Given the description of an element on the screen output the (x, y) to click on. 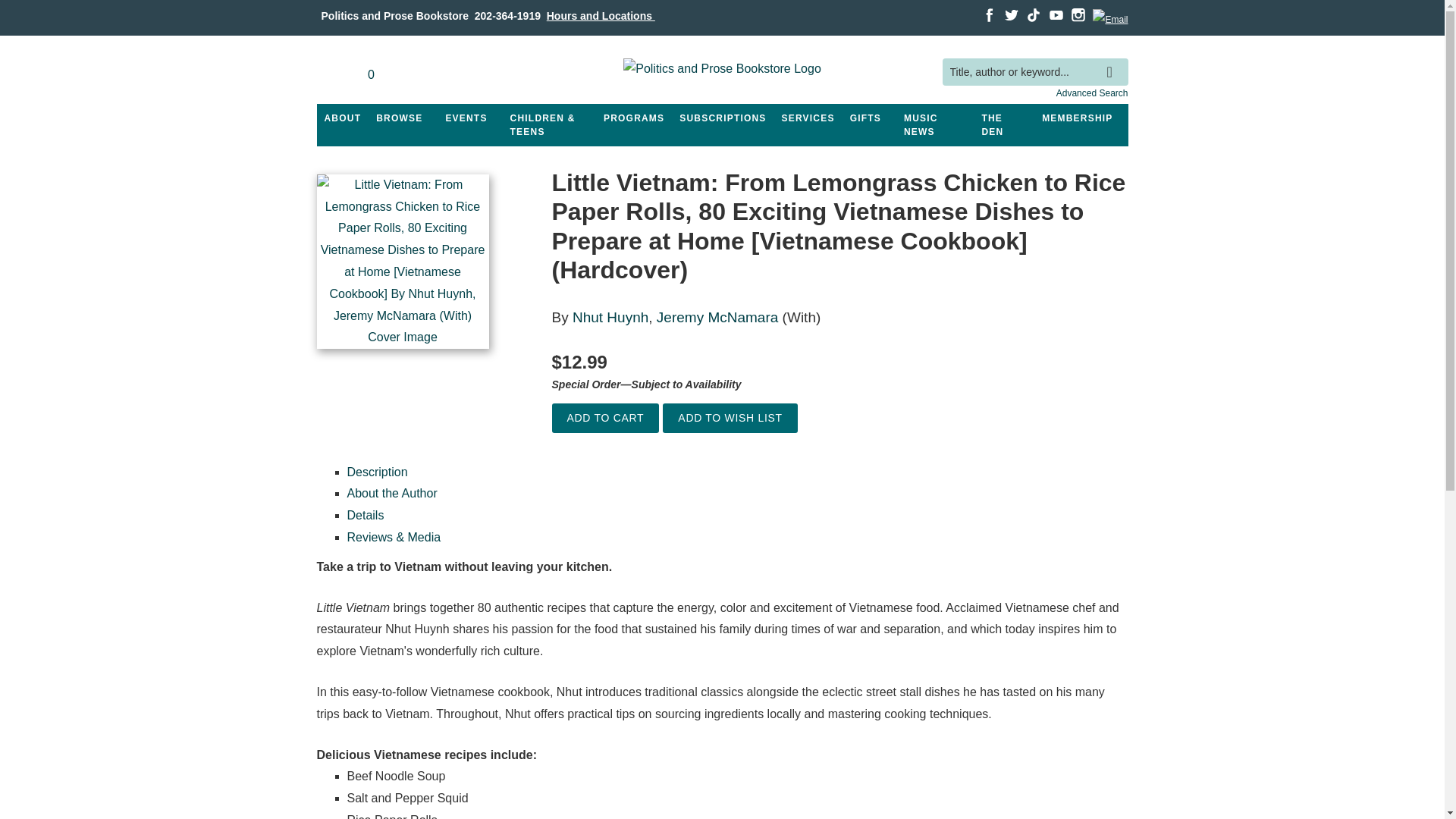
SUBSCRIPTIONS (722, 118)
Add to Wish List (729, 418)
EVENTS (465, 118)
Hours and Locations  (601, 15)
Title, author or keyword... (1034, 72)
Add to Cart (605, 418)
See our store ours and locations (601, 15)
ABOUT (343, 118)
See information about our programs (633, 118)
